Given the description of an element on the screen output the (x, y) to click on. 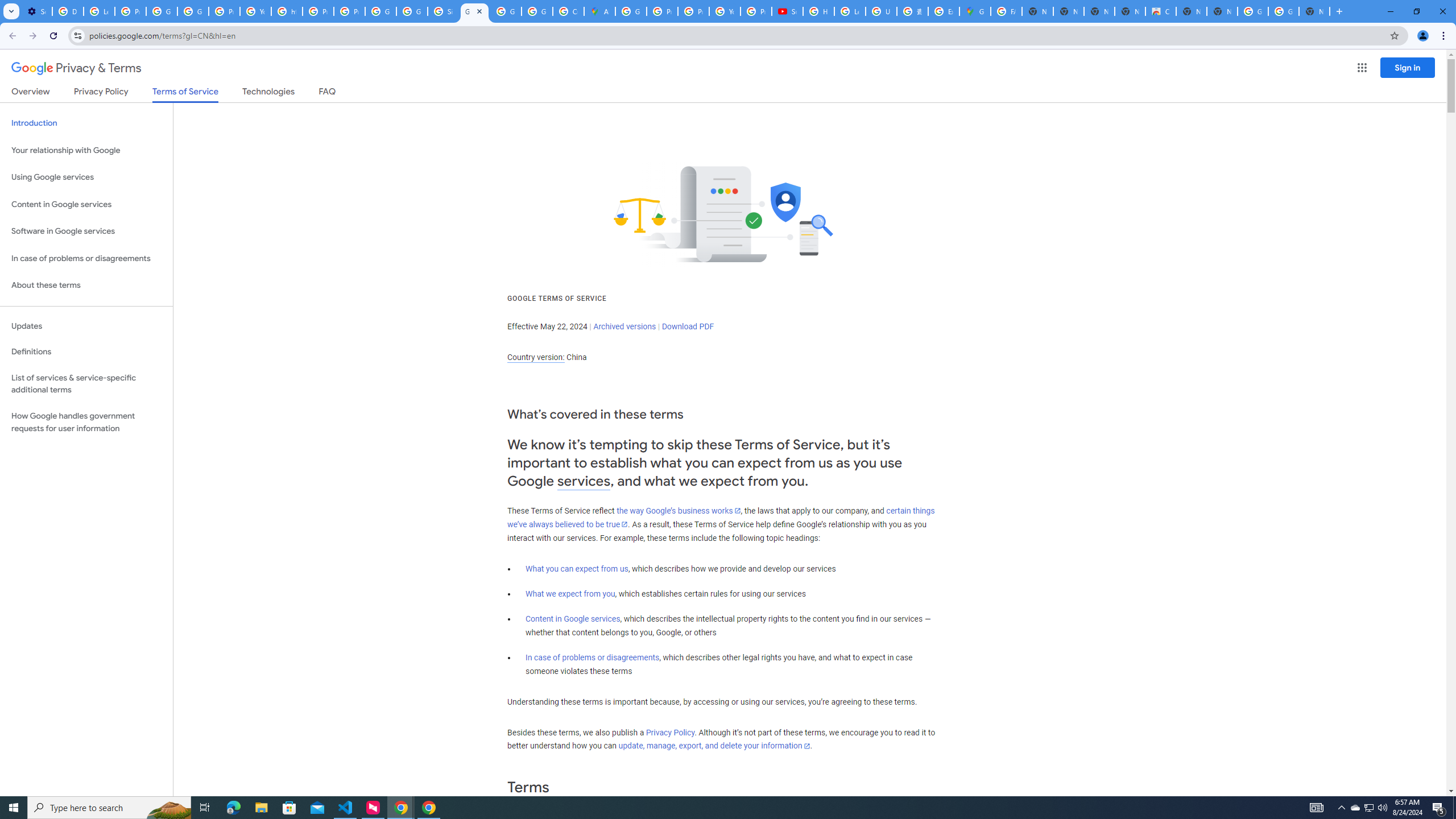
Google Account Help (161, 11)
About these terms (86, 284)
https://scholar.google.com/ (286, 11)
How Chrome protects your passwords - Google Chrome Help (818, 11)
Subscriptions - YouTube (787, 11)
Your relationship with Google (86, 150)
